Given the description of an element on the screen output the (x, y) to click on. 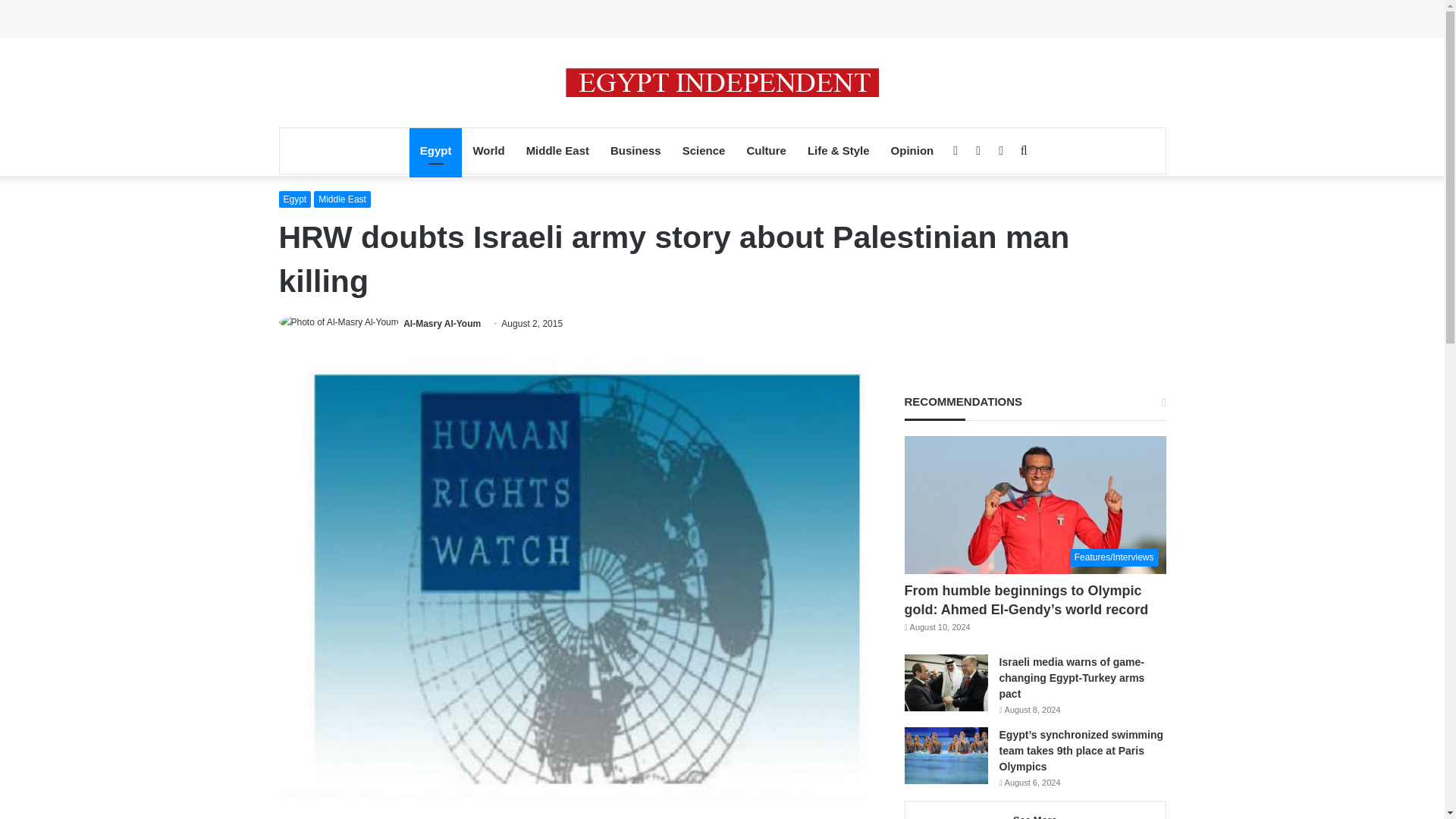
Business (635, 150)
Al-Masry Al-Youm (441, 323)
Middle East (557, 150)
World (488, 150)
Egypt Independent (722, 82)
Egypt (436, 150)
Opinion (912, 150)
Middle East (342, 199)
Culture (765, 150)
Egypt (295, 199)
